Given the description of an element on the screen output the (x, y) to click on. 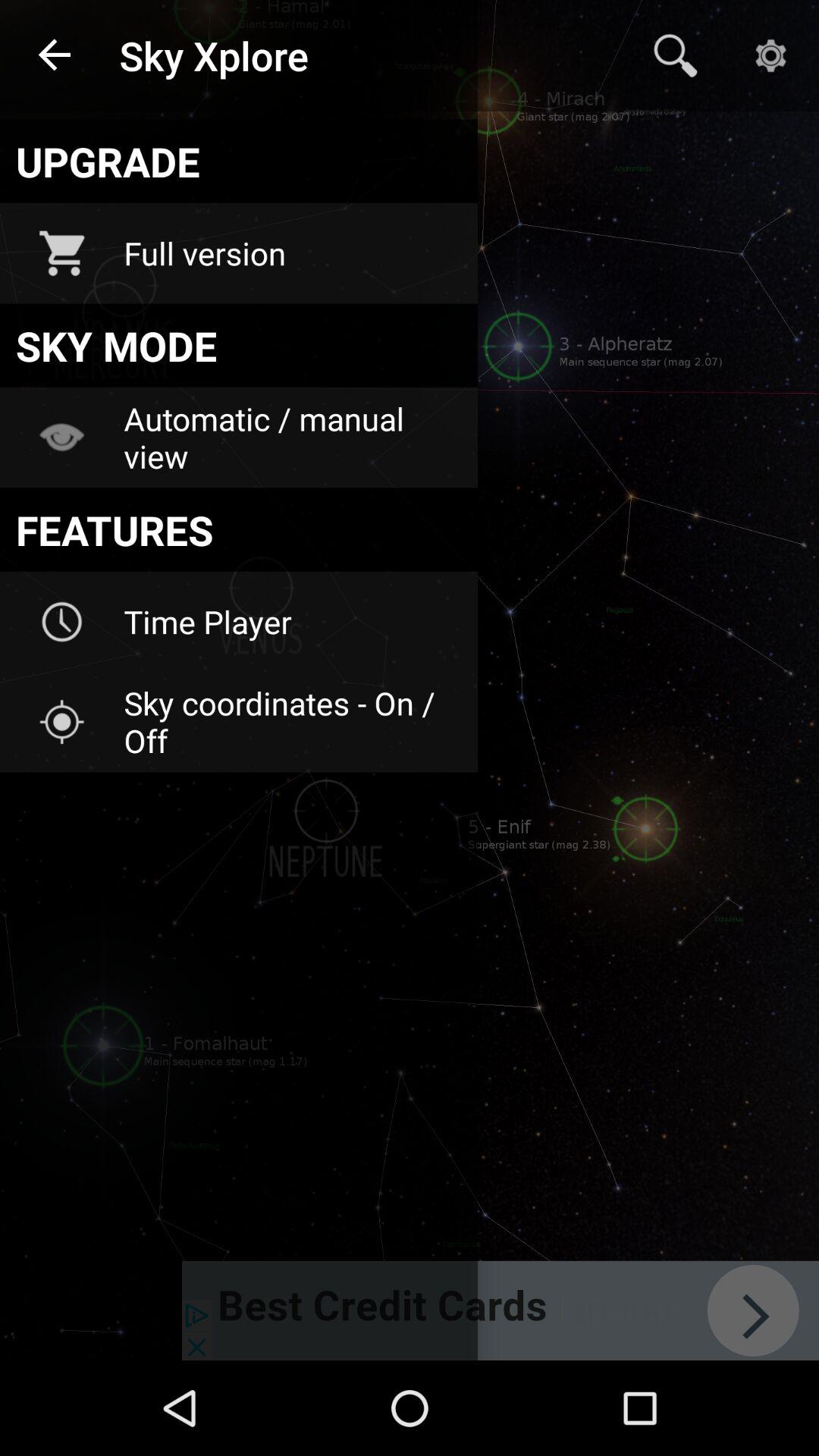
turn on the icon above upgrade icon (55, 55)
